Given the description of an element on the screen output the (x, y) to click on. 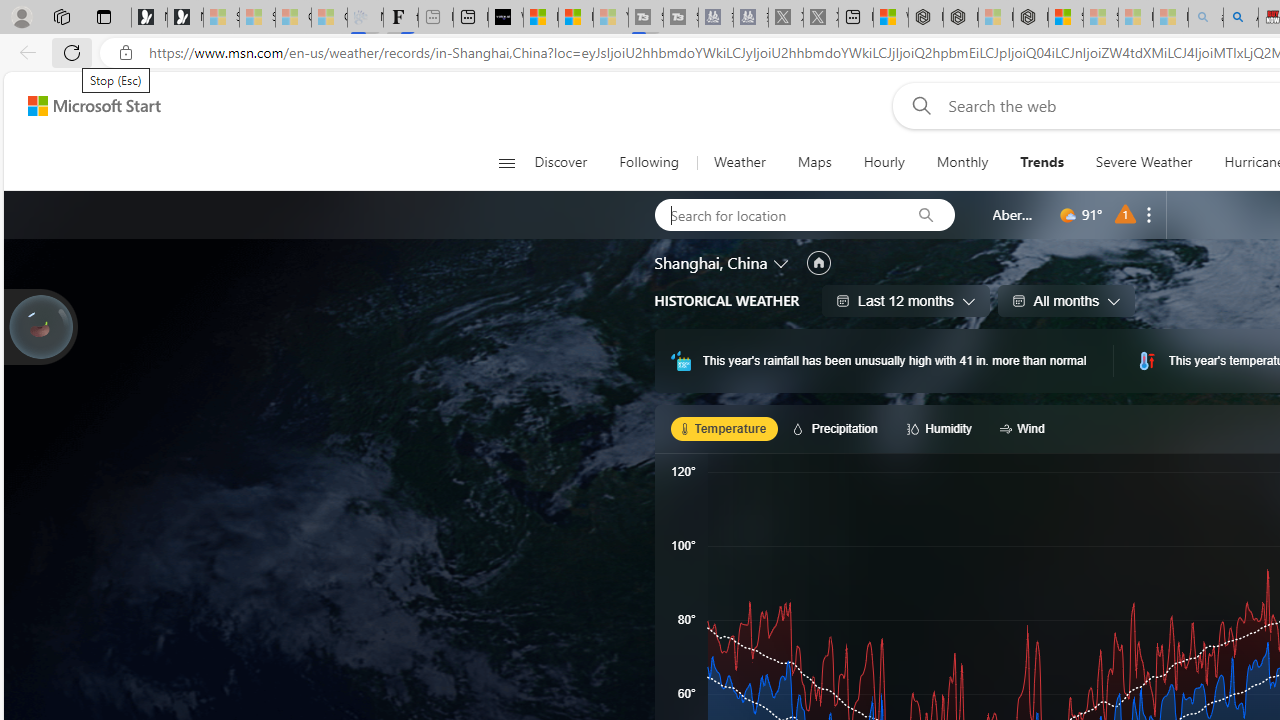
New tab (855, 17)
Severe Weather (1143, 162)
Trends (1041, 162)
Maps (814, 162)
Hourly (883, 162)
Nordace - Nordace Siena Is Not An Ordinary Backpack (1030, 17)
Shanghai, China (711, 263)
Monthly (962, 162)
What's the best AI voice generator? - voice.ai (506, 17)
amazon - Search - Sleeping (1205, 17)
Open navigation menu (506, 162)
